Given the description of an element on the screen output the (x, y) to click on. 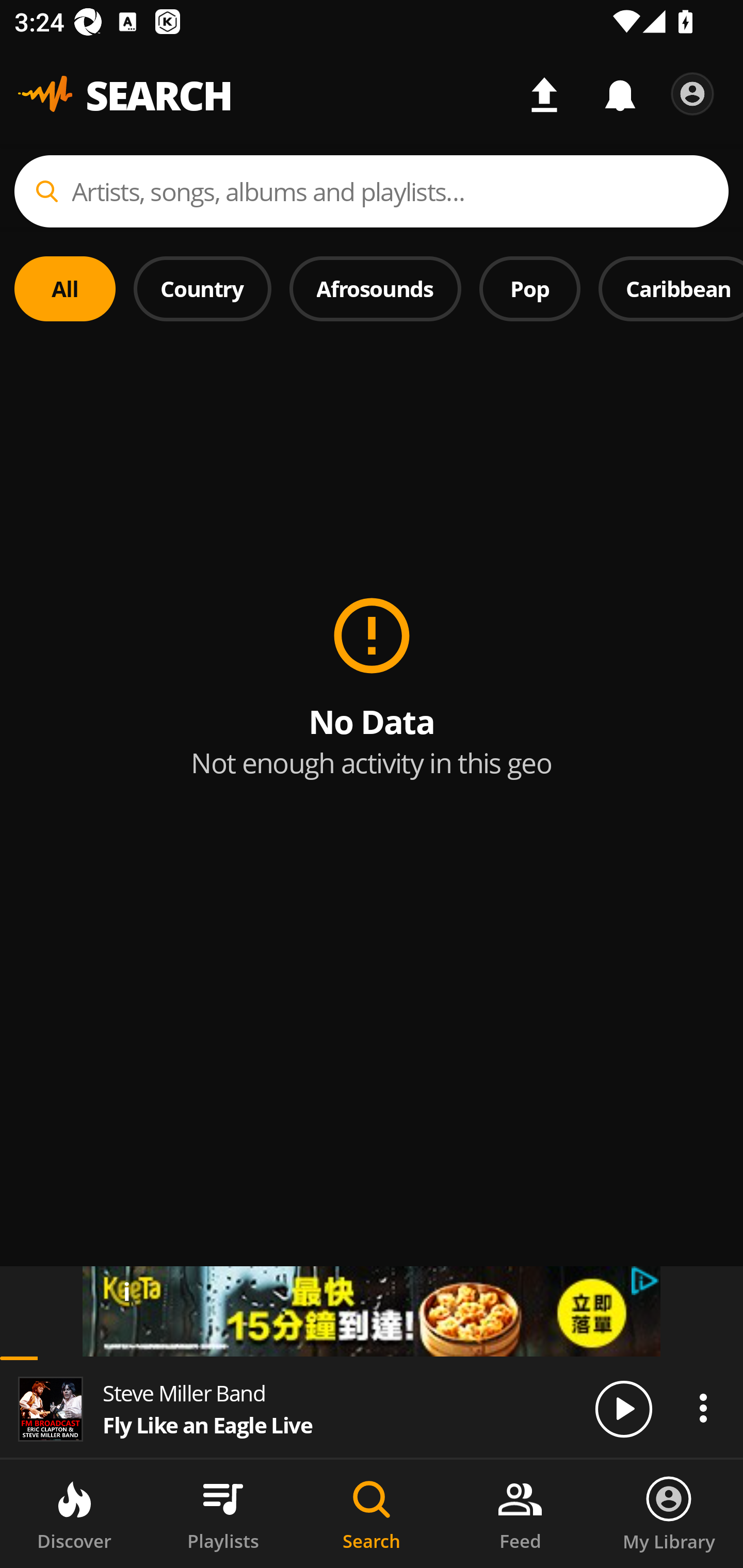
Settings (692, 94)
Artists, songs, albums and playlists… (371, 191)
All (64, 288)
Country (202, 288)
Afrosounds (375, 288)
Pop (529, 288)
Caribbean (670, 288)
Actions (703, 1407)
Play/Pause (623, 1408)
Discover (74, 1513)
Playlists (222, 1513)
Search (371, 1513)
Feed (519, 1513)
My Library (668, 1513)
